Given the description of an element on the screen output the (x, y) to click on. 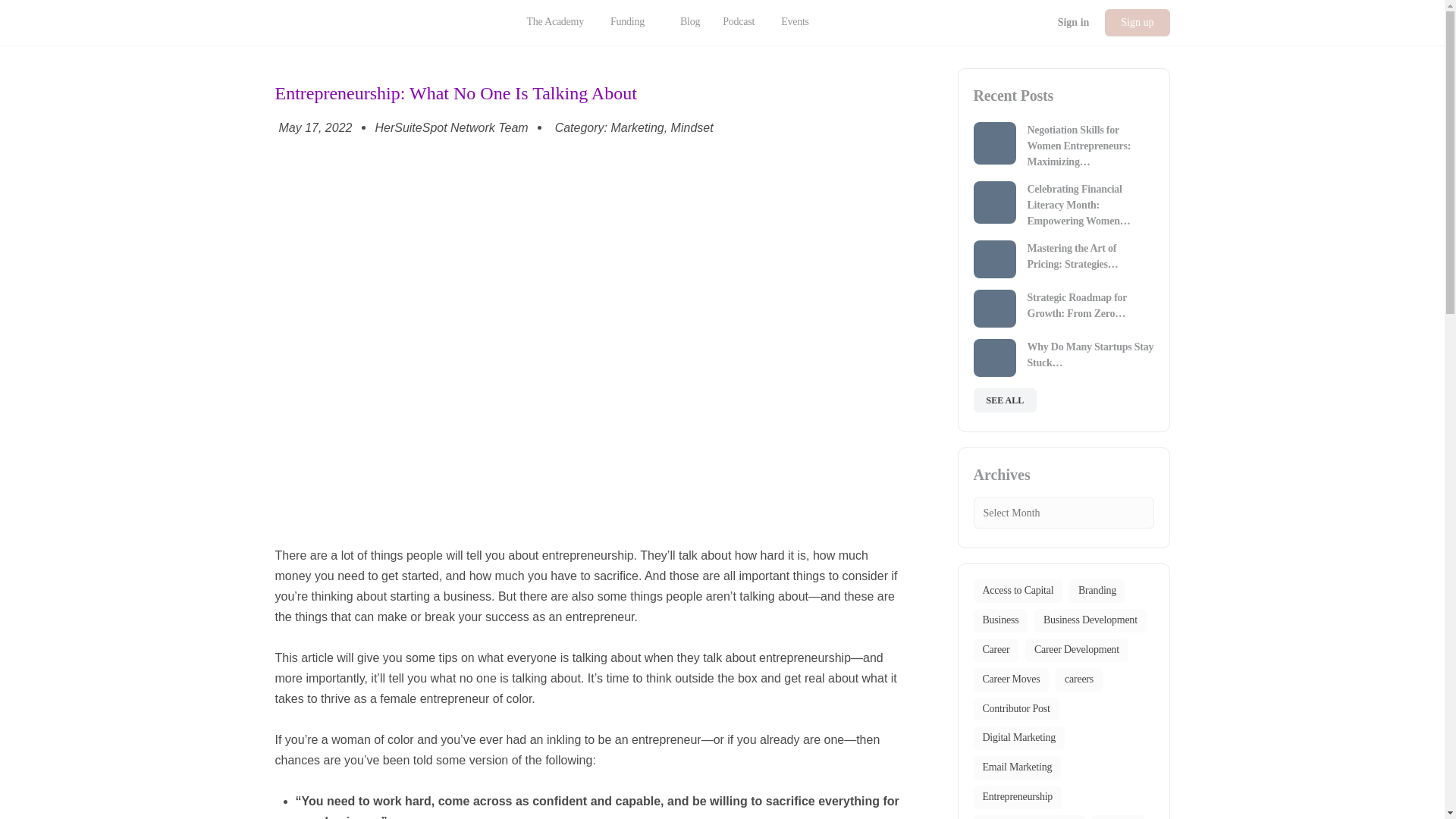
Events (801, 22)
Podcast (737, 22)
The Academy (554, 22)
Funding (633, 22)
Marketing (636, 127)
May 17, 2022 (313, 127)
HerSuiteSpot Network Team (450, 127)
Blog (689, 22)
Sign in (1073, 22)
Sign up (1137, 22)
Mindset (692, 127)
